Given the description of an element on the screen output the (x, y) to click on. 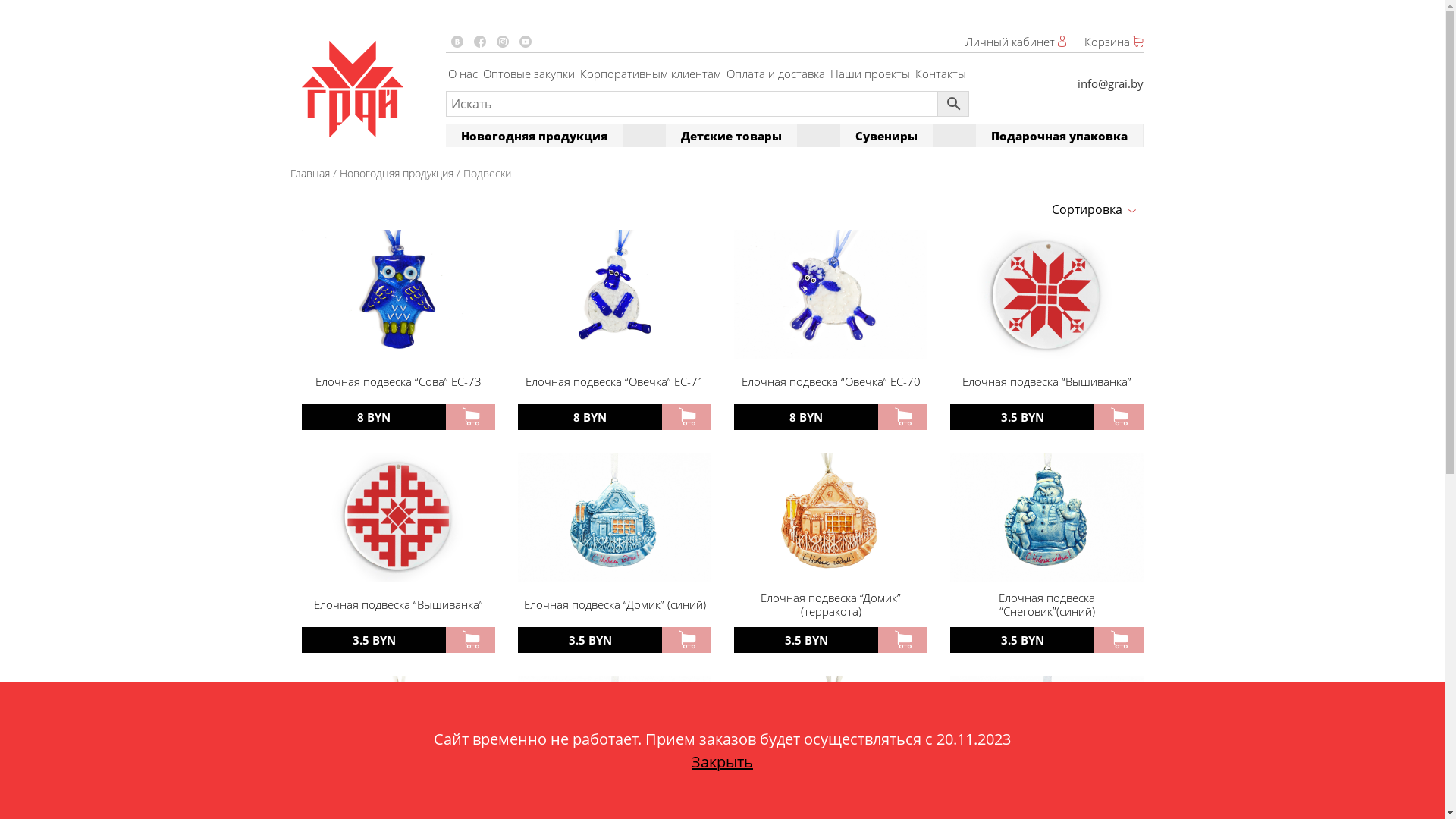
info@grai.by Element type: text (1109, 83)
